Given the description of an element on the screen output the (x, y) to click on. 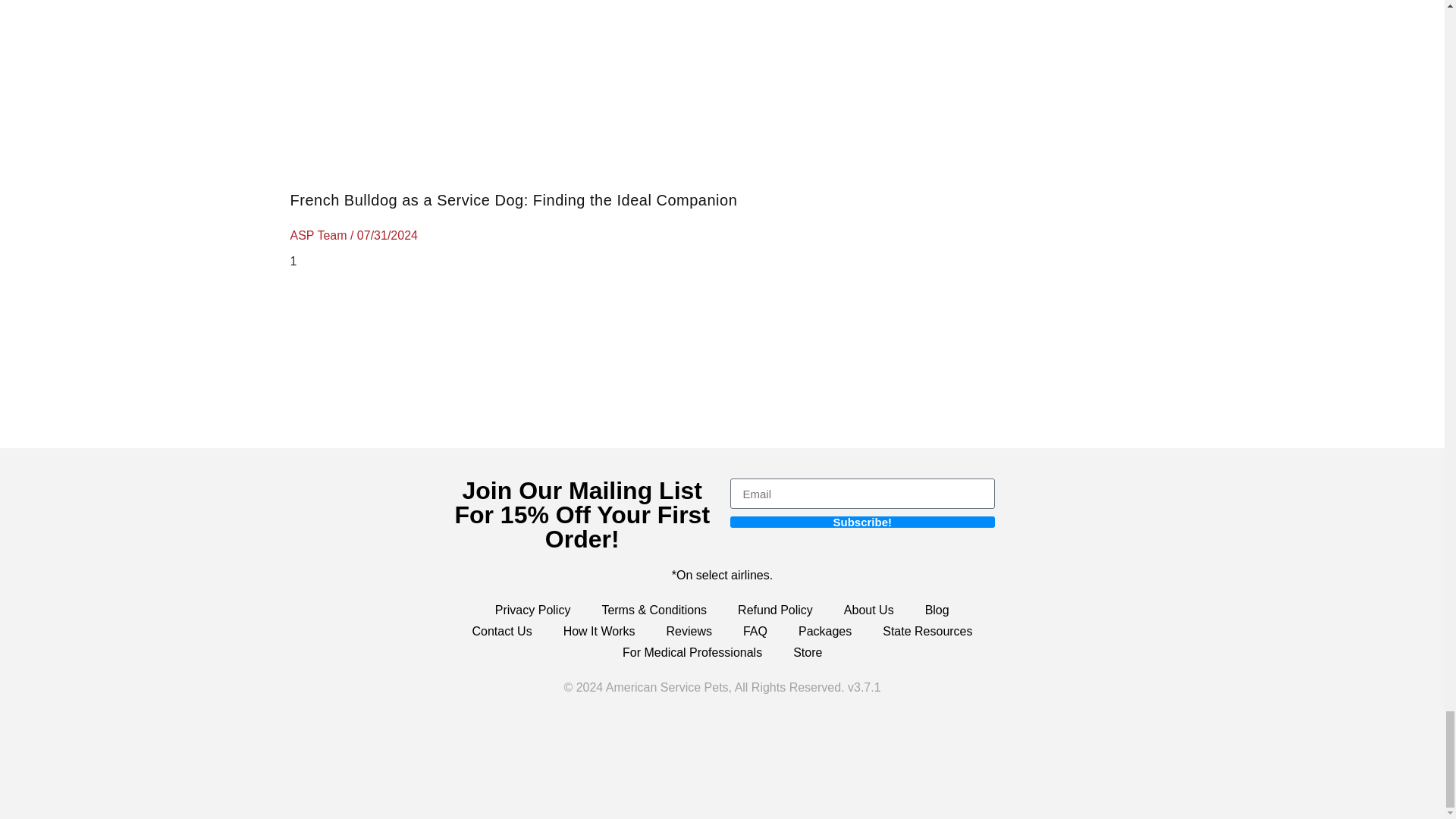
Subscribe! (861, 521)
French Bulldog as a Service Dog: Finding the Ideal Companion (512, 199)
Refund Policy (775, 609)
Privacy Policy (533, 609)
